Given the description of an element on the screen output the (x, y) to click on. 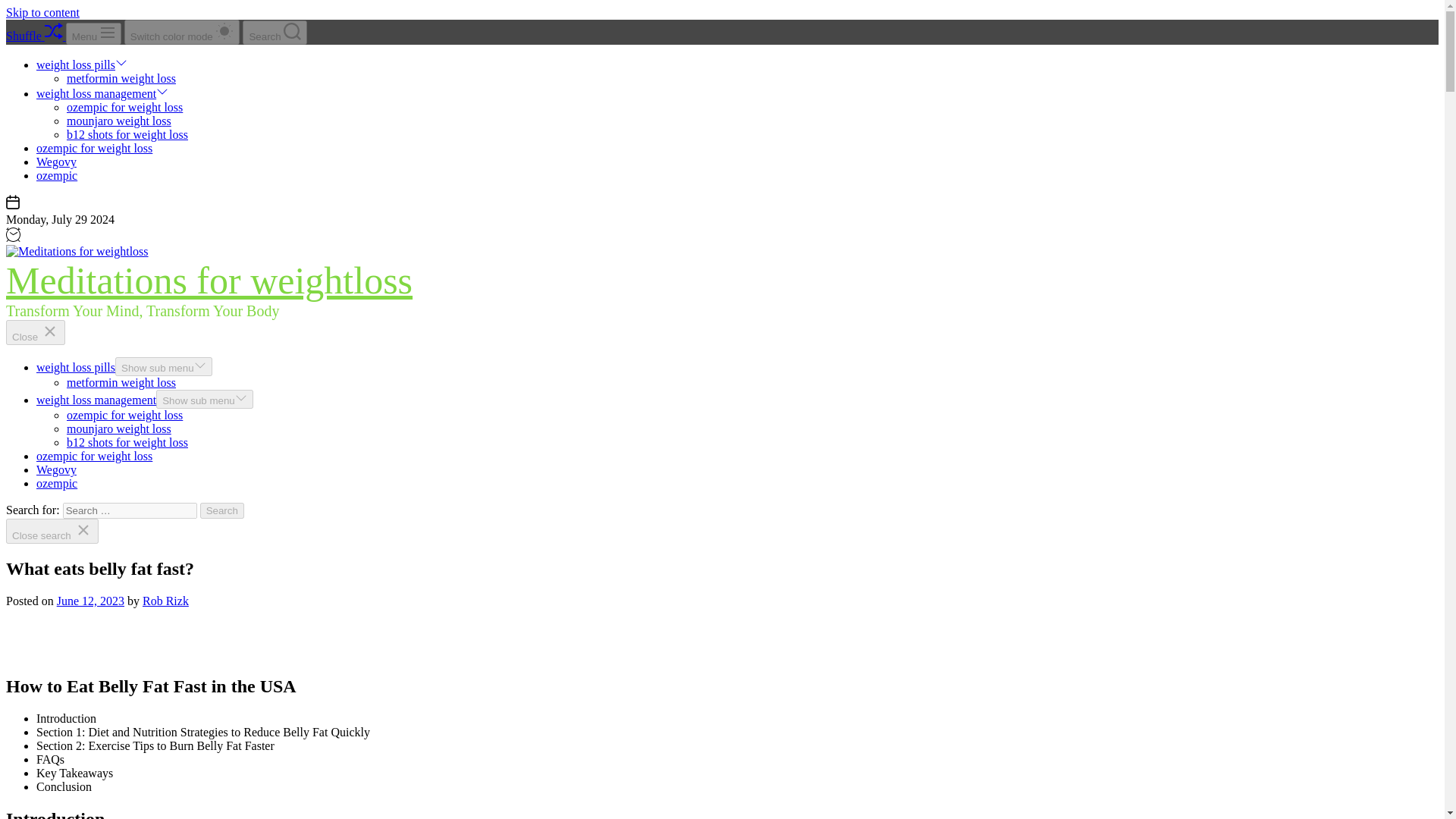
ozempic for weight loss (124, 414)
metformin weight loss (121, 78)
ozempic (56, 482)
June 12, 2023 (89, 600)
ozempic for weight loss (94, 147)
Meditations for weightloss (208, 280)
ozempic for weight loss (94, 455)
metformin weight loss (121, 382)
Search (222, 510)
Switch color mode (181, 32)
weight loss pills (75, 367)
Menu (92, 33)
Rob Rizk (165, 600)
Search (222, 510)
mounjaro weight loss (118, 428)
